Given the description of an element on the screen output the (x, y) to click on. 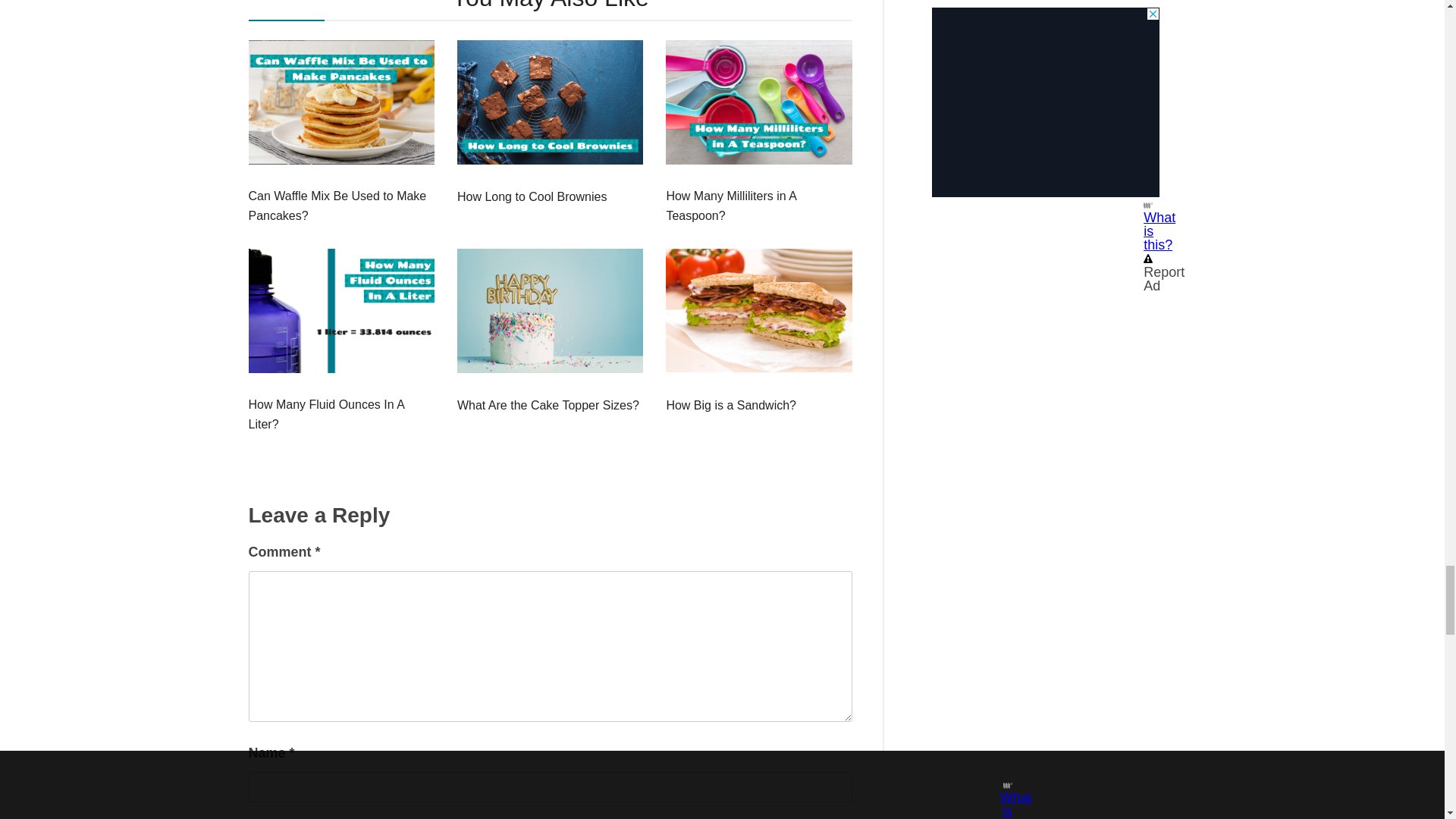
Can Waffle Mix Be Used to Make Pancakes? (340, 205)
How Long to Cool Brownies (532, 197)
